Given the description of an element on the screen output the (x, y) to click on. 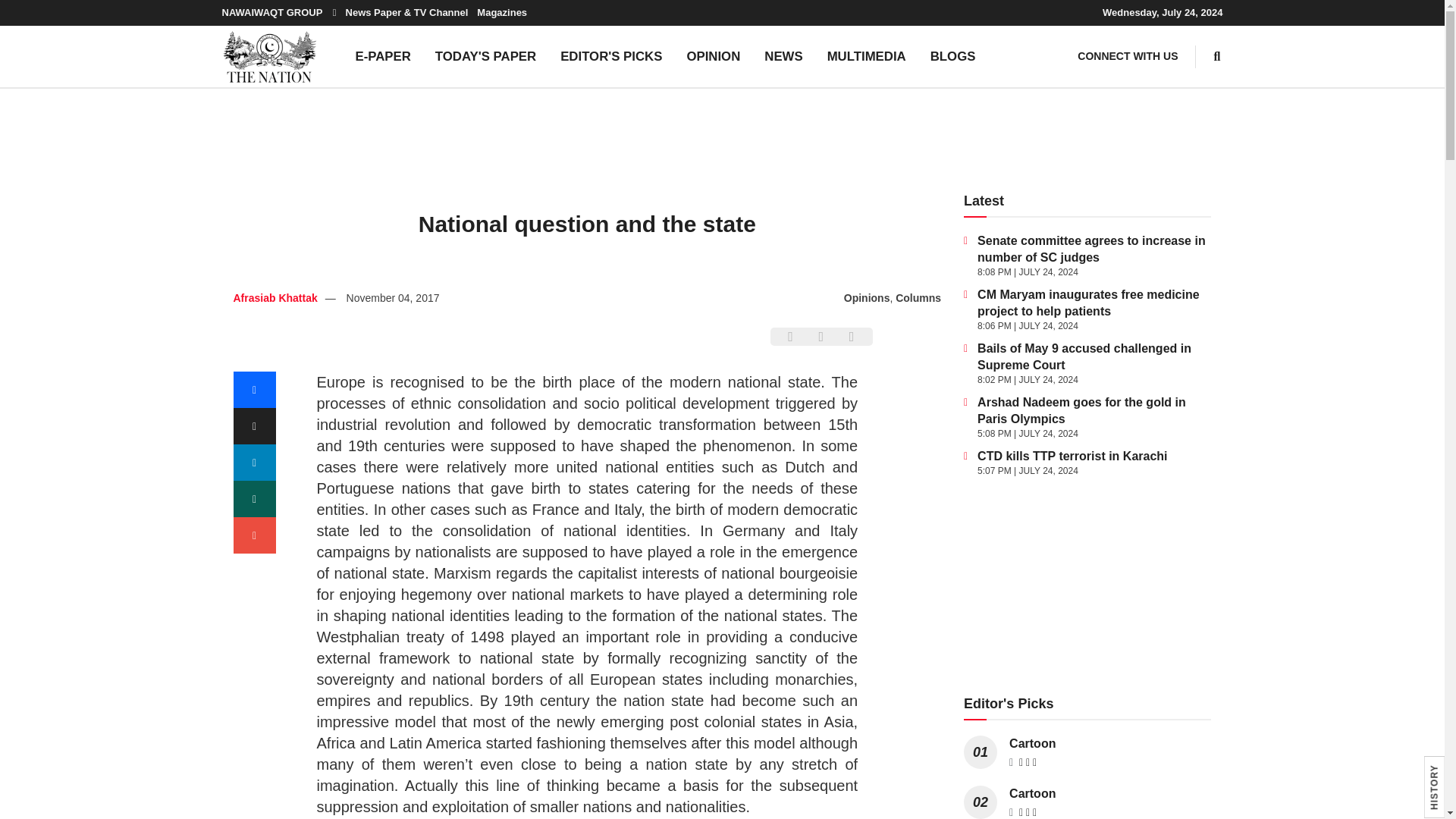
EDITOR'S PICKS (611, 55)
E-PAPER (382, 55)
Magazines (502, 12)
MULTIMEDIA (866, 55)
TODAY'S PAPER (485, 55)
OPINION (713, 55)
NEWS (782, 55)
BLOGS (953, 55)
